Given the description of an element on the screen output the (x, y) to click on. 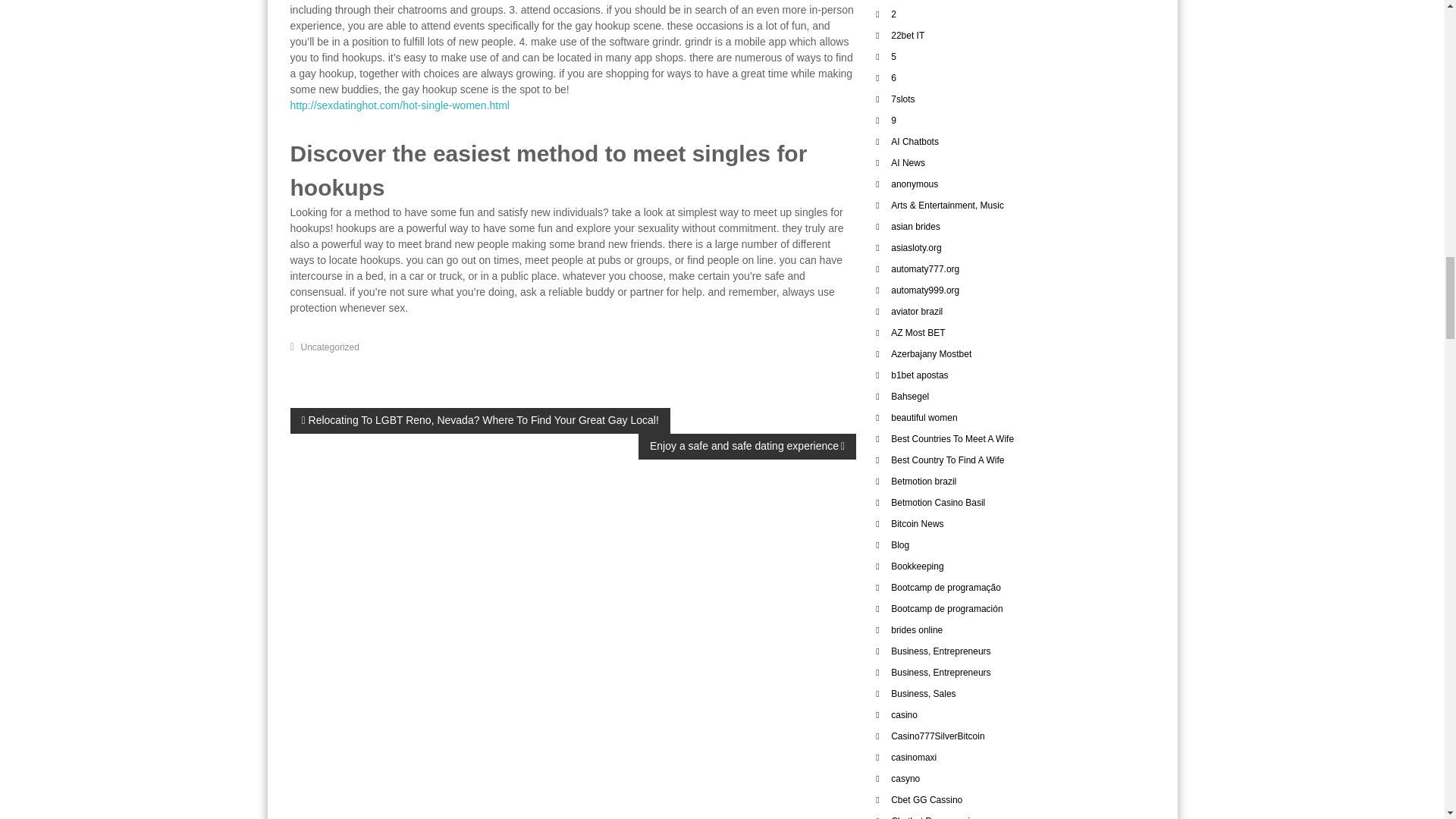
Enjoy a safe and safe dating experience (747, 446)
Uncategorized (330, 346)
